Given the description of an element on the screen output the (x, y) to click on. 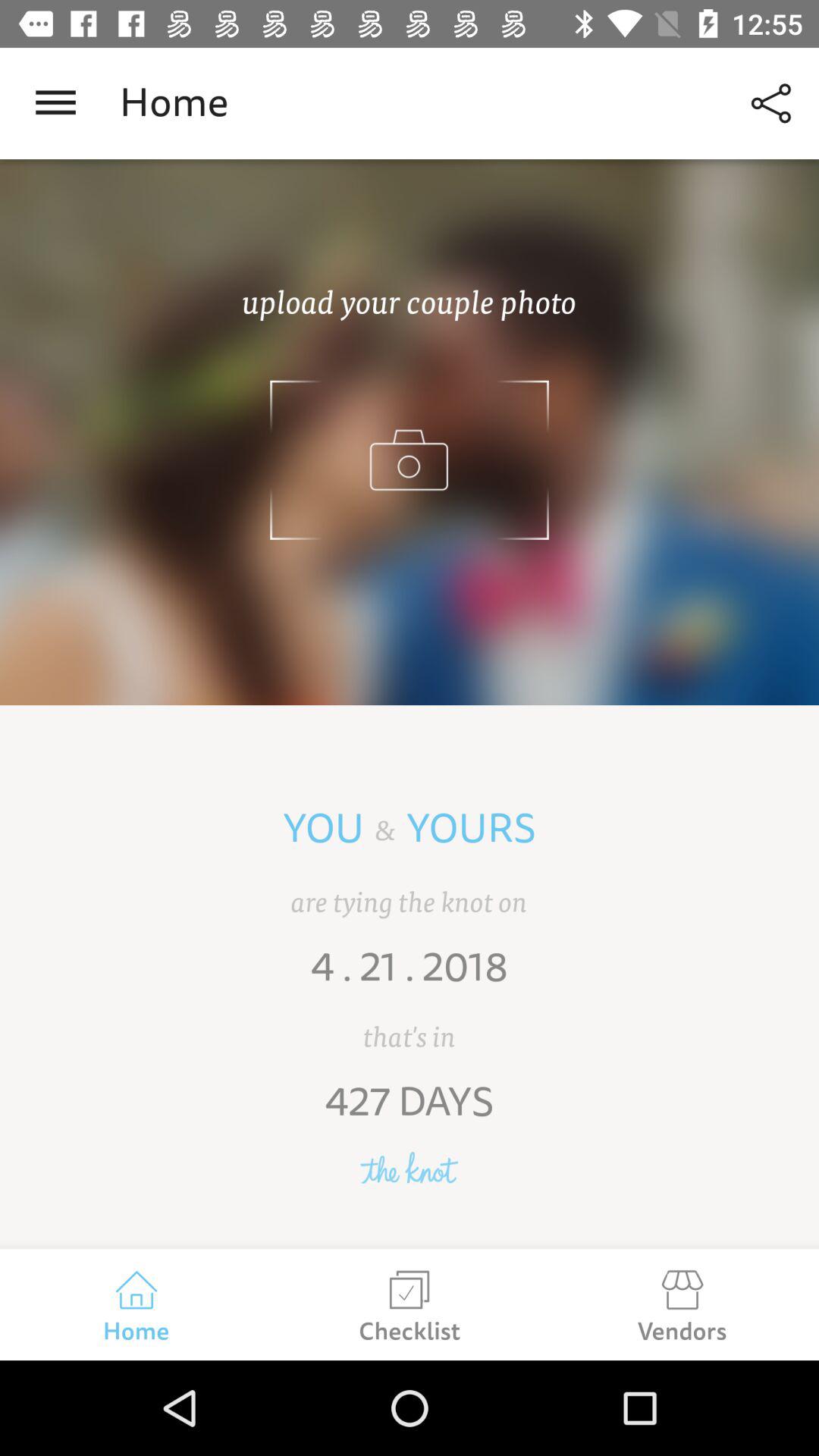
menu (55, 103)
